Given the description of an element on the screen output the (x, y) to click on. 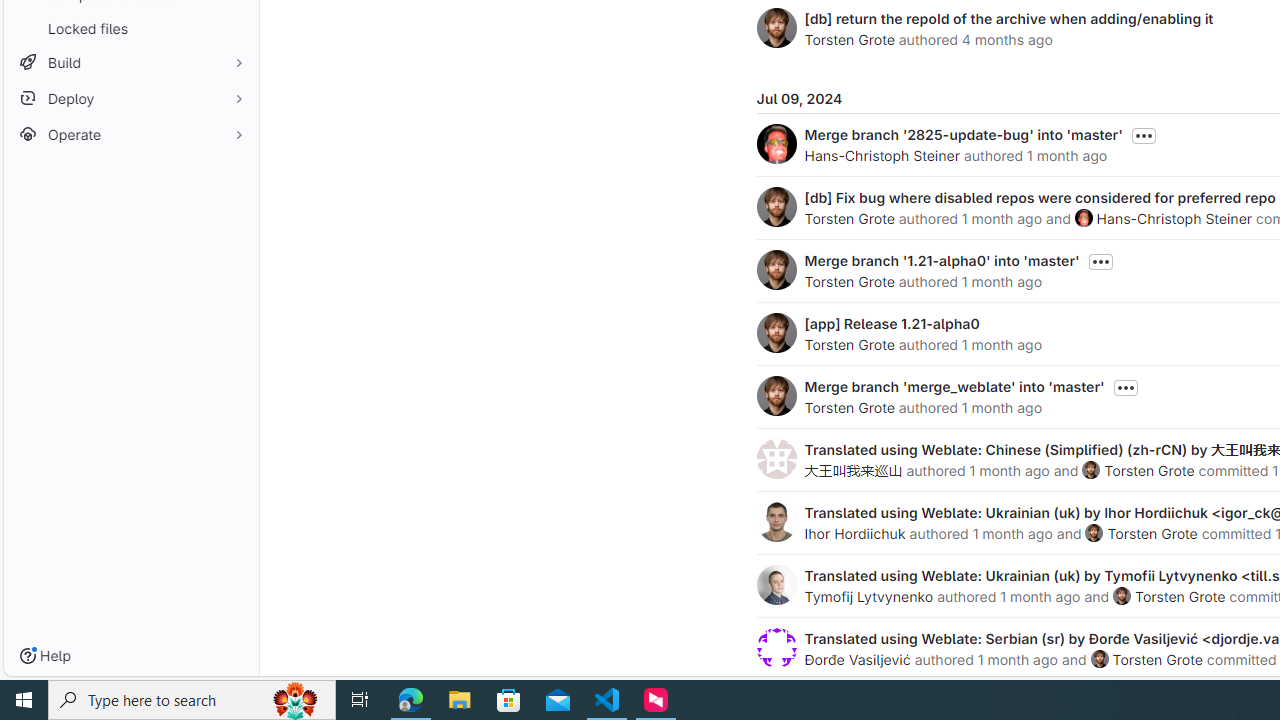
Hans-Christoph Steiner's avatar (1083, 217)
Build (130, 62)
Ihor Hordiichuk's avatar (776, 521)
Ihor Hordiichuk's avatar (776, 521)
Hans-Christoph Steiner's avatar (1083, 217)
Locked files (130, 28)
Locked files (130, 28)
Deploy (130, 98)
Hans-Christoph Steiner (1174, 218)
Microsoft Store (509, 699)
[app] Release 1.21-alpha0 (891, 323)
Visual Studio Code - 1 running window (607, 699)
Tymofij Lytvynenko's avatar (776, 584)
